Given the description of an element on the screen output the (x, y) to click on. 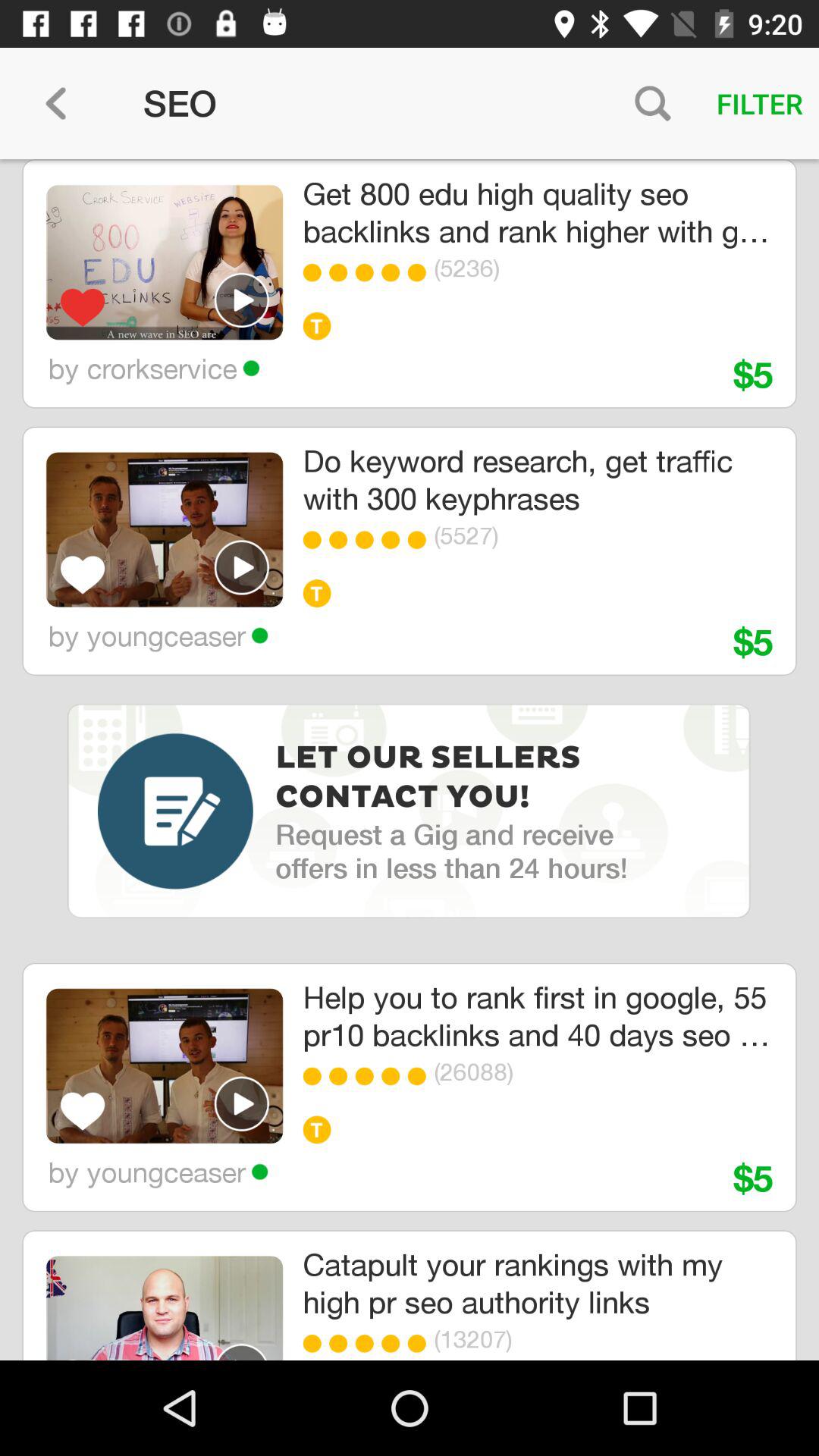
press item above the request a gig icon (432, 777)
